Given the description of an element on the screen output the (x, y) to click on. 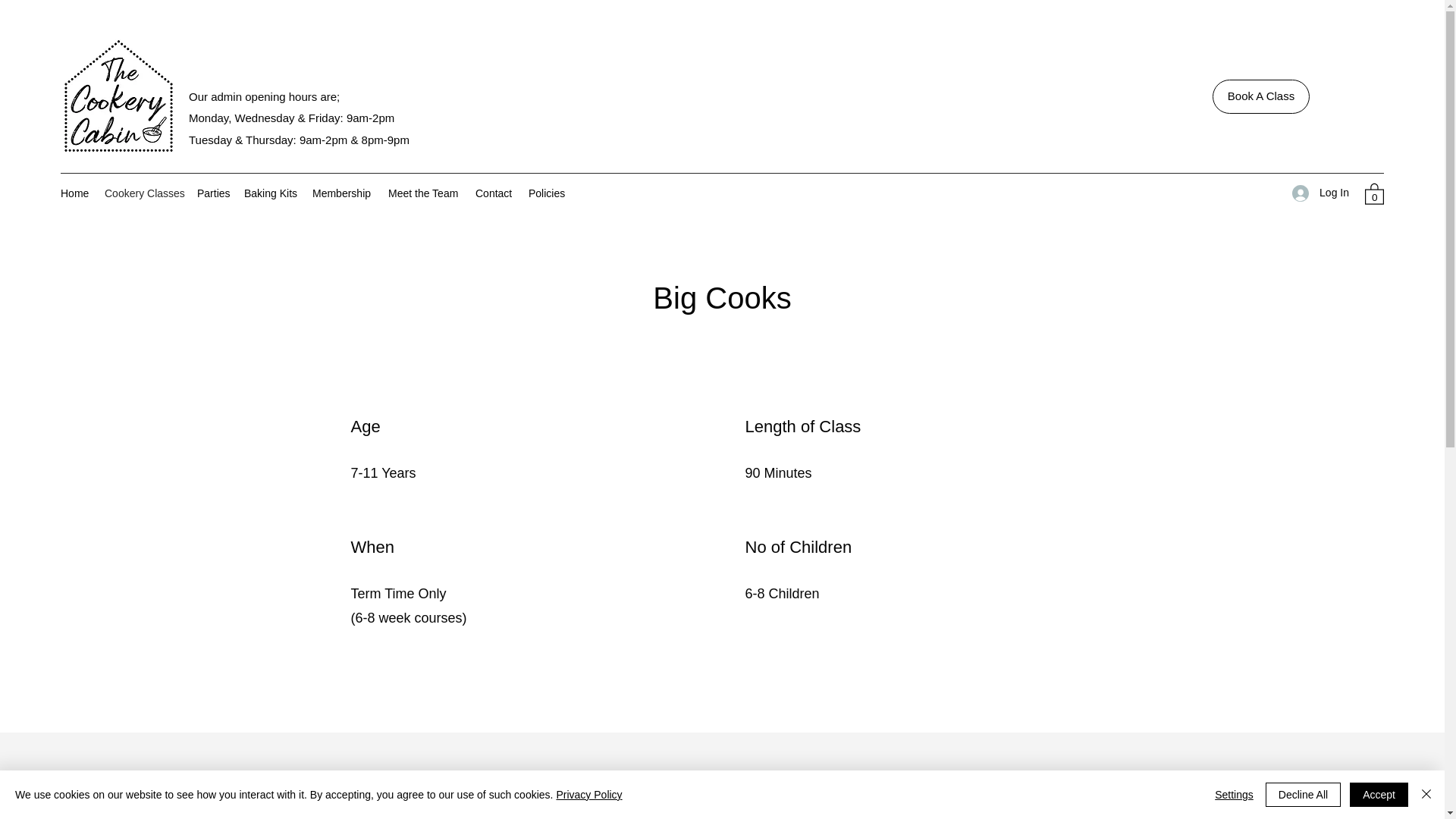
Policies (545, 192)
Home (74, 192)
Baking Kits (269, 192)
Log In (1320, 193)
Decline All (1302, 794)
Privacy Policy (588, 794)
Parties (212, 192)
Cookery Classes (143, 192)
Book A Class (1260, 96)
Accept (1378, 794)
